Given the description of an element on the screen output the (x, y) to click on. 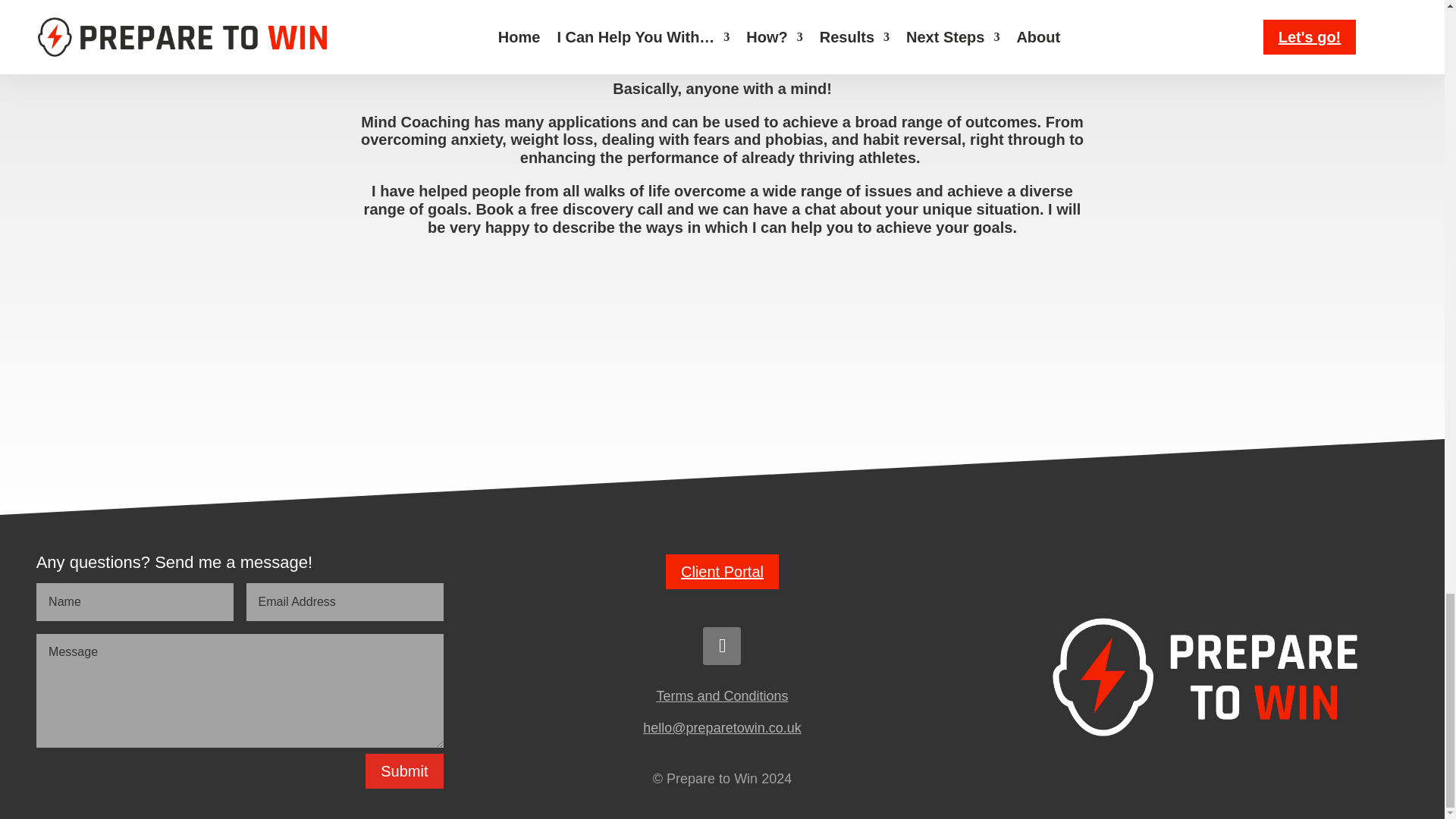
Follow on Facebook (722, 646)
